Given the description of an element on the screen output the (x, y) to click on. 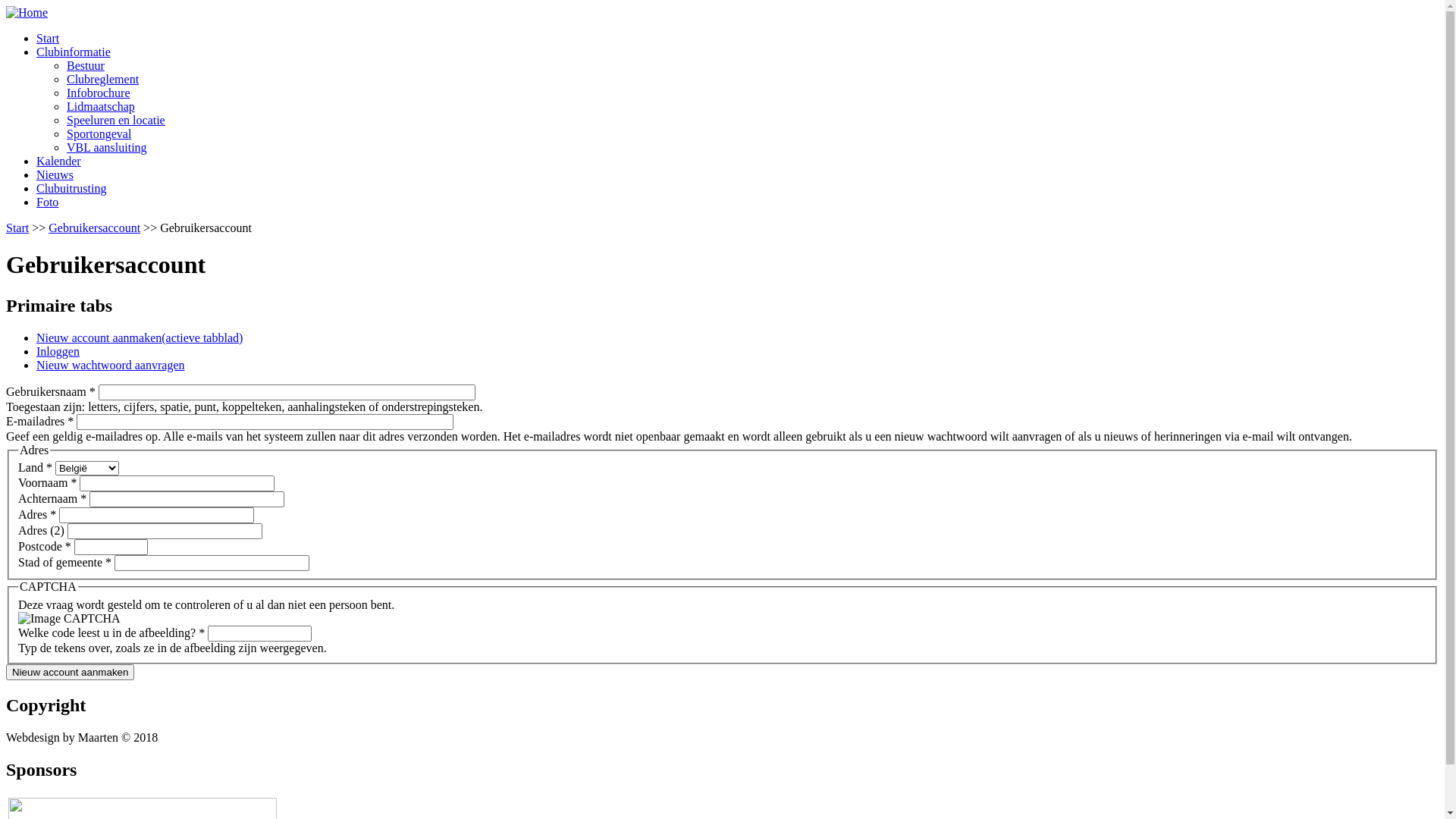
Infobrochure Element type: text (98, 92)
Clubuitrusting Element type: text (71, 188)
Kalender Element type: text (58, 160)
Clubreglement Element type: text (102, 78)
Clubinformatie Element type: text (73, 51)
Start Element type: text (47, 37)
Speeluren en locatie Element type: text (115, 119)
Foto Element type: text (47, 201)
Home Element type: hover (26, 12)
Nieuw account aanmaken(actieve tabblad) Element type: text (139, 337)
Nieuw account aanmaken Element type: text (70, 672)
Start Element type: text (17, 227)
Inloggen Element type: text (57, 351)
Gebruikersaccount Element type: text (94, 227)
Lidmaatschap Element type: text (100, 106)
Image CAPTCHA Element type: hover (69, 618)
Nieuws Element type: text (54, 174)
Bestuur Element type: text (85, 65)
Nieuw wachtwoord aanvragen Element type: text (110, 364)
VBL aansluiting Element type: text (106, 147)
Sportongeval Element type: text (98, 133)
